Given the description of an element on the screen output the (x, y) to click on. 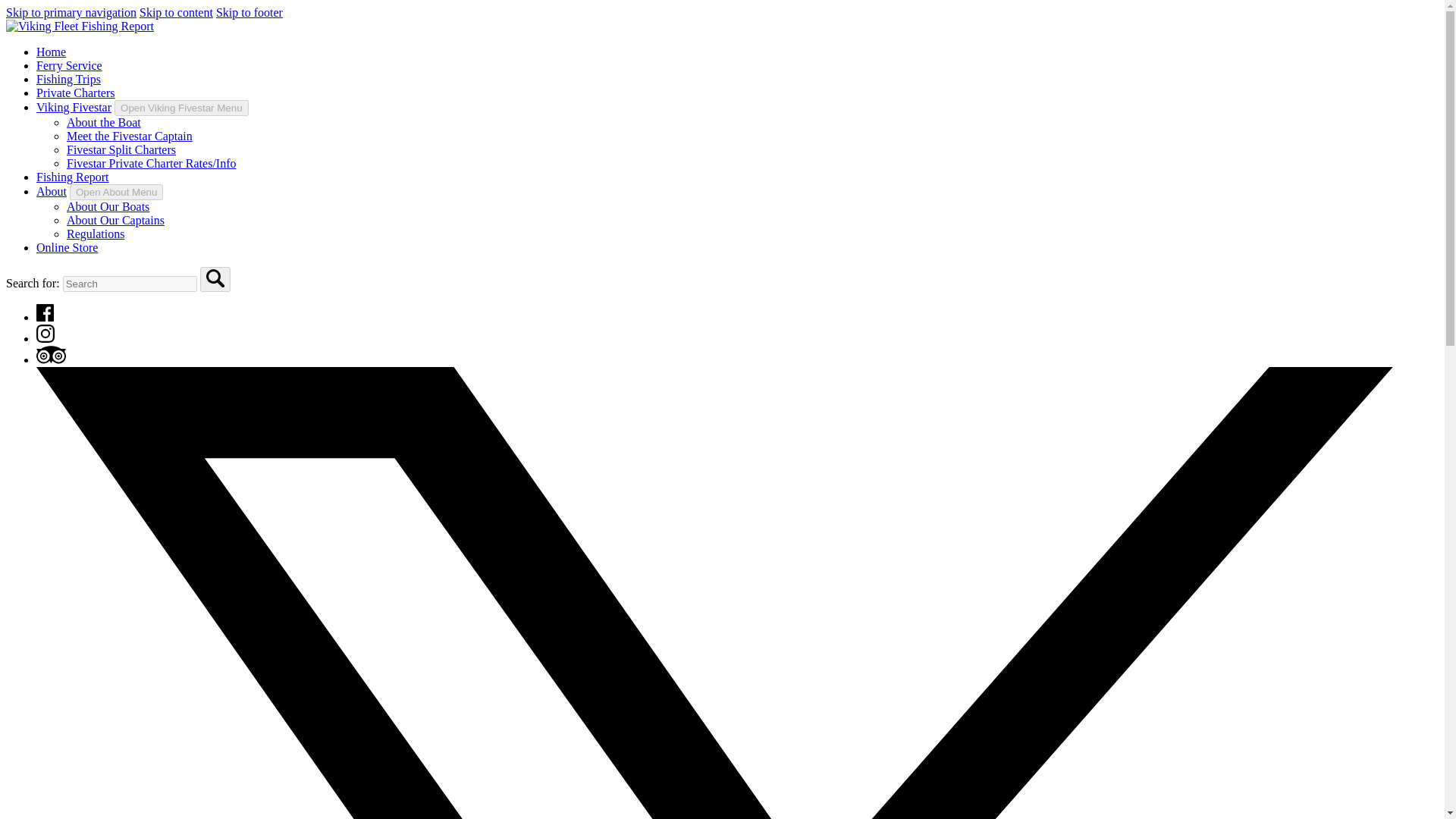
Fishing Report (72, 176)
Search (215, 278)
Online Store (66, 246)
Home (50, 51)
TripAdvisor (50, 359)
Instagram (45, 338)
Ferry Service (68, 65)
Regulations (94, 233)
Open About Menu (116, 191)
Search for:  (129, 283)
Facebook (44, 317)
About (51, 191)
About Our Captains (115, 219)
Instagram (45, 333)
About the Boat (103, 122)
